Given the description of an element on the screen output the (x, y) to click on. 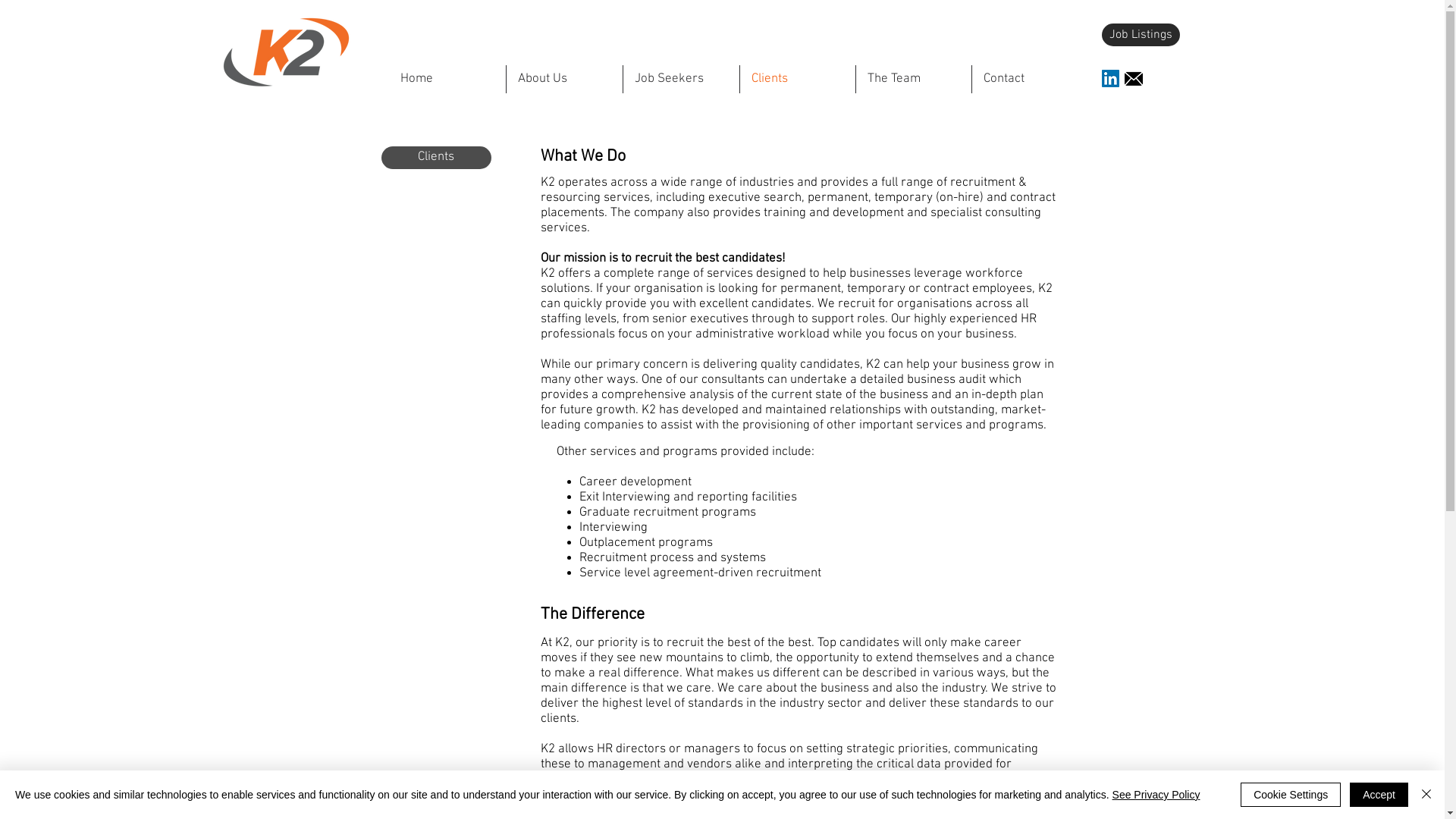
Clients Element type: text (797, 79)
Job Listings Element type: text (1140, 34)
K2 2 .png Element type: hover (285, 51)
The Team Element type: text (912, 79)
Job Seekers Element type: text (681, 79)
Contact Element type: text (1029, 79)
About Us Element type: text (564, 79)
Cookie Settings Element type: text (1290, 794)
Home Element type: text (446, 79)
Accept Element type: text (1378, 794)
See Privacy Policy Element type: text (1156, 794)
